Given the description of an element on the screen output the (x, y) to click on. 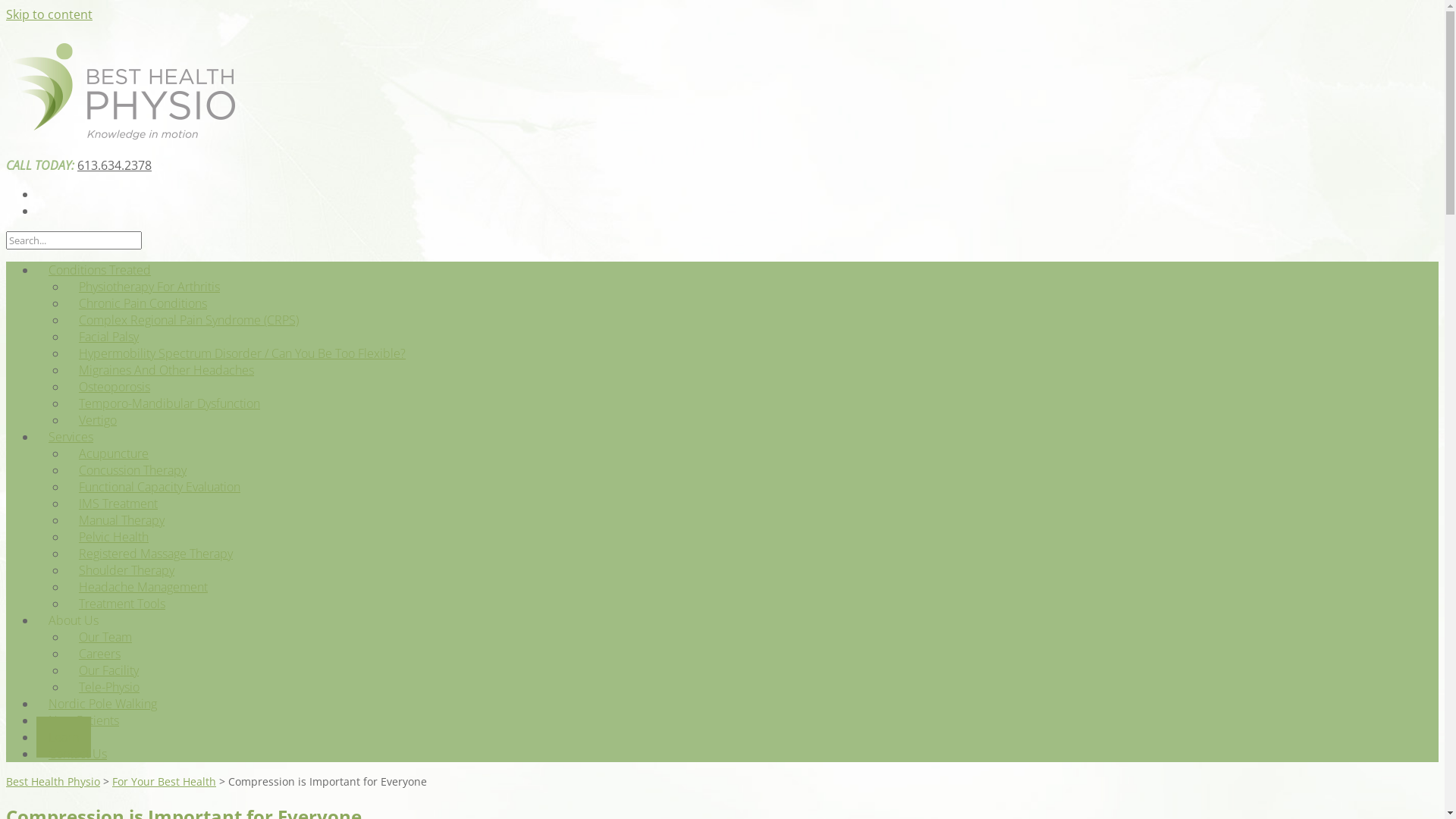
Our Team Element type: text (105, 636)
Contact Us Element type: text (77, 753)
Skip to content Element type: text (49, 14)
Nordic Pole Walking Element type: text (102, 703)
Services Element type: text (70, 436)
Tele-Physio Element type: text (108, 686)
Treatment Tools Element type: text (121, 603)
Facial Palsy Element type: text (108, 336)
Osteoporosis Element type: text (114, 386)
Temporo-Mandibular Dysfunction Element type: text (169, 402)
Physiotherapy For Arthritis Element type: text (149, 286)
Careers Element type: text (99, 653)
Migraines And Other Headaches Element type: text (166, 369)
Search for: Element type: hover (73, 240)
Pelvic Health Element type: text (113, 536)
Manual Therapy Element type: text (121, 519)
New Patients Element type: text (83, 719)
Best Health Physio Element type: hover (120, 134)
Chronic Pain Conditions Element type: text (142, 302)
About Us Element type: text (73, 619)
613.634.2378 Element type: text (114, 164)
Conditions Treated Element type: text (99, 269)
Our Facility Element type: text (108, 669)
Functional Capacity Evaluation Element type: text (159, 486)
IMS Treatment Element type: text (117, 503)
Complex Regional Pain Syndrome (CRPS) Element type: text (188, 319)
For Your Best Health Element type: text (164, 781)
Vertigo Element type: text (97, 419)
Hypermobility Spectrum Disorder / Can You Be Too Flexible? Element type: text (241, 352)
Acupuncture Element type: text (113, 453)
Learn Element type: text (63, 736)
Shoulder Therapy Element type: text (126, 569)
Headache Management Element type: text (142, 586)
Best Health Physio Element type: text (53, 781)
Registered Massage Therapy Element type: text (155, 553)
Concussion Therapy Element type: text (132, 469)
